Given the description of an element on the screen output the (x, y) to click on. 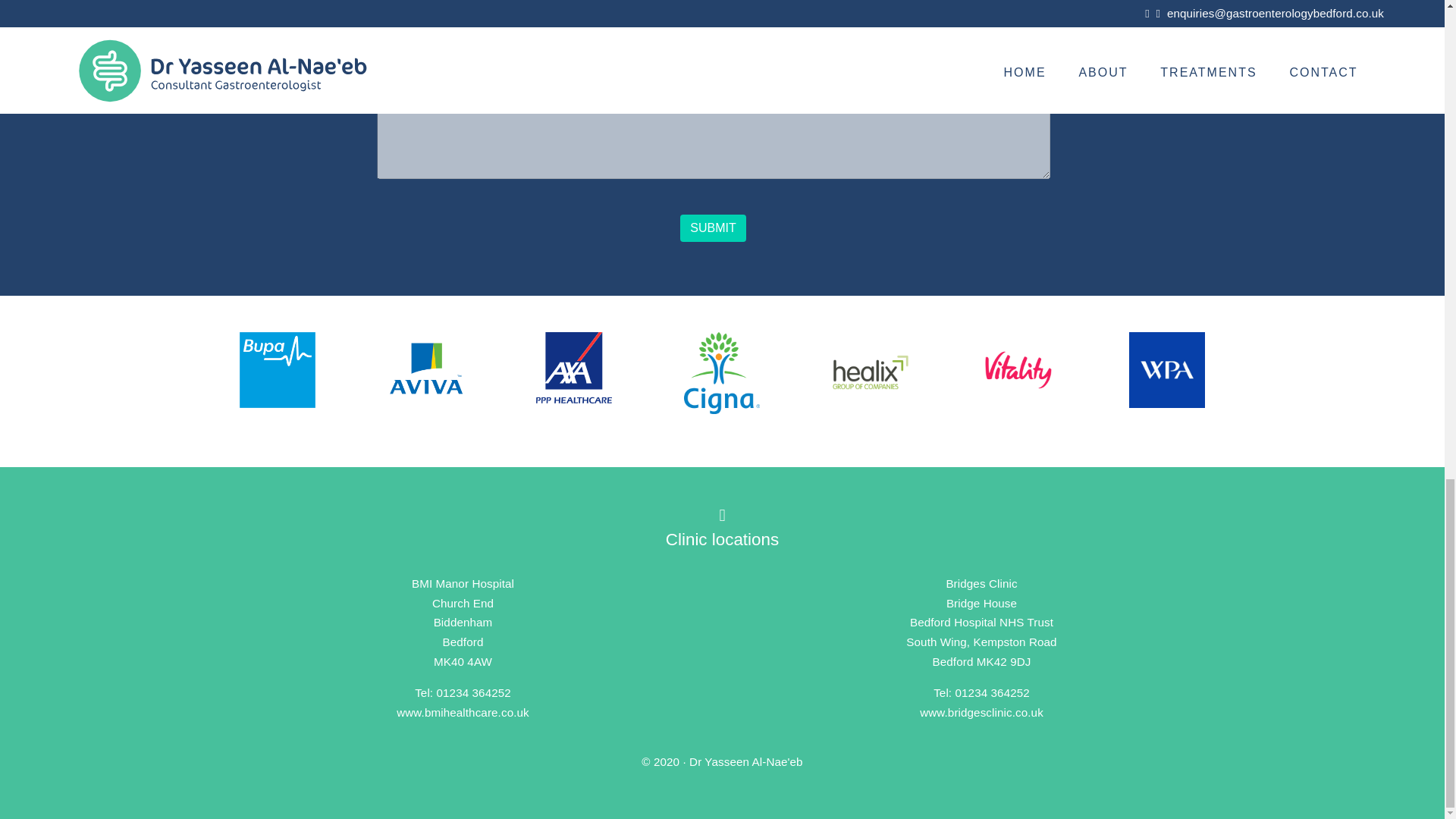
www.bridgesclinic.co.uk (981, 712)
www.bmihealthcare.co.uk (462, 712)
SUBMIT (712, 227)
